Given the description of an element on the screen output the (x, y) to click on. 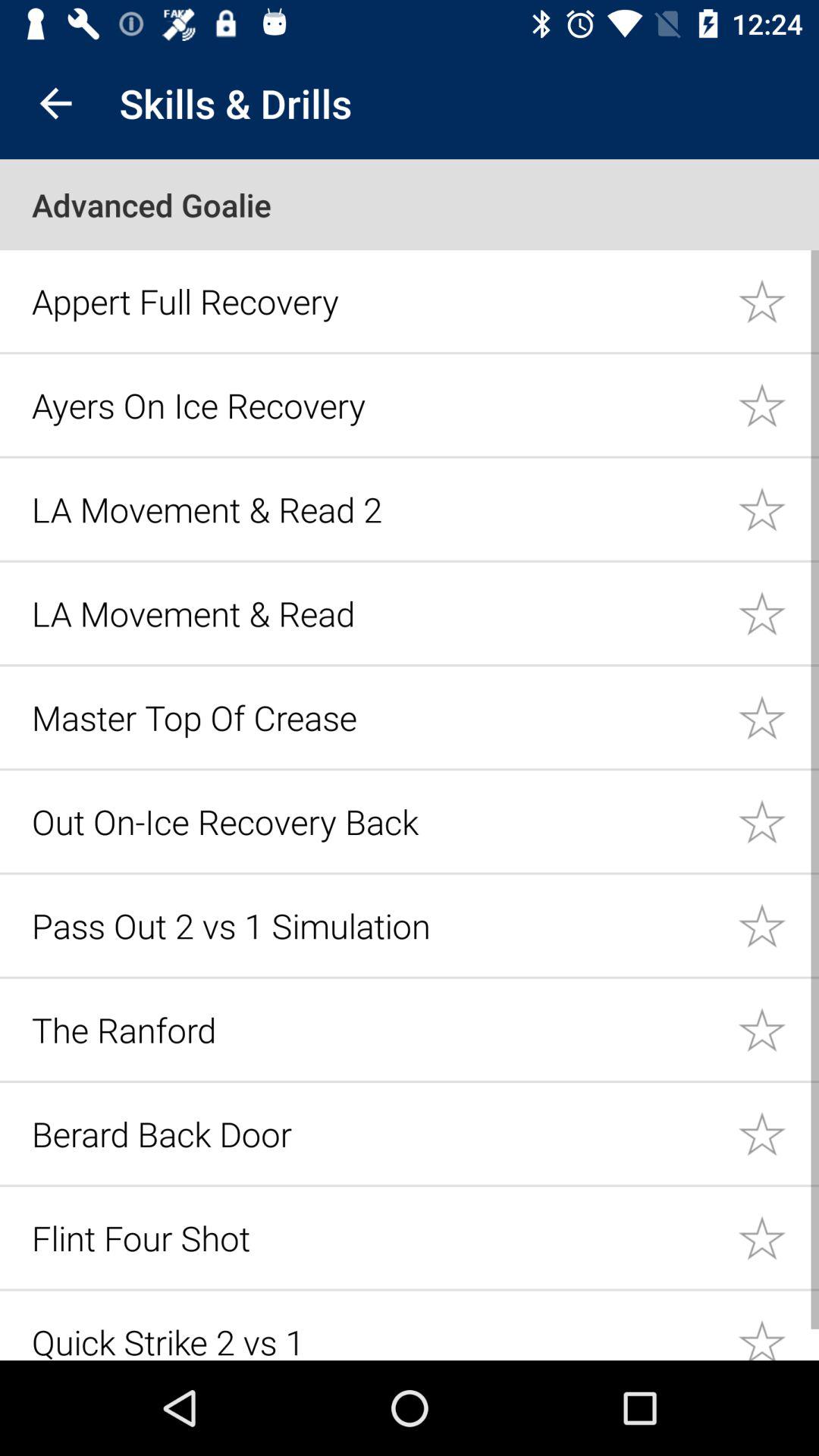
tap the pass out 2 (376, 925)
